Given the description of an element on the screen output the (x, y) to click on. 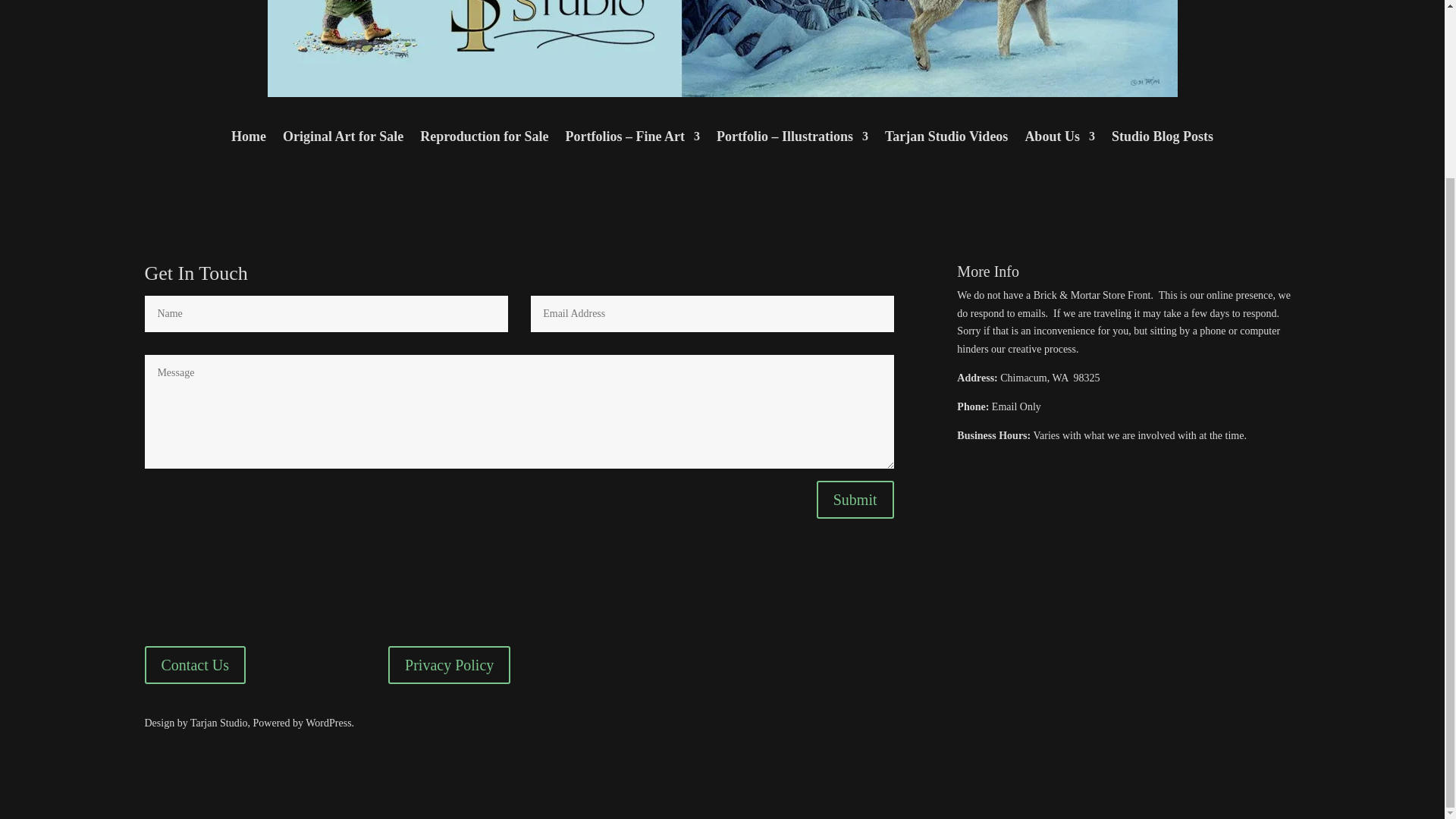
Home (248, 139)
About Us (1059, 139)
Original Art for Sale (342, 139)
Studio Blog Posts (1162, 139)
Tarjan Studio Banner (721, 48)
Submit (854, 499)
Contact Us (194, 664)
Privacy Policy (449, 664)
Tarjan Studio Videos (946, 139)
Reproduction for Sale (484, 139)
